Given the description of an element on the screen output the (x, y) to click on. 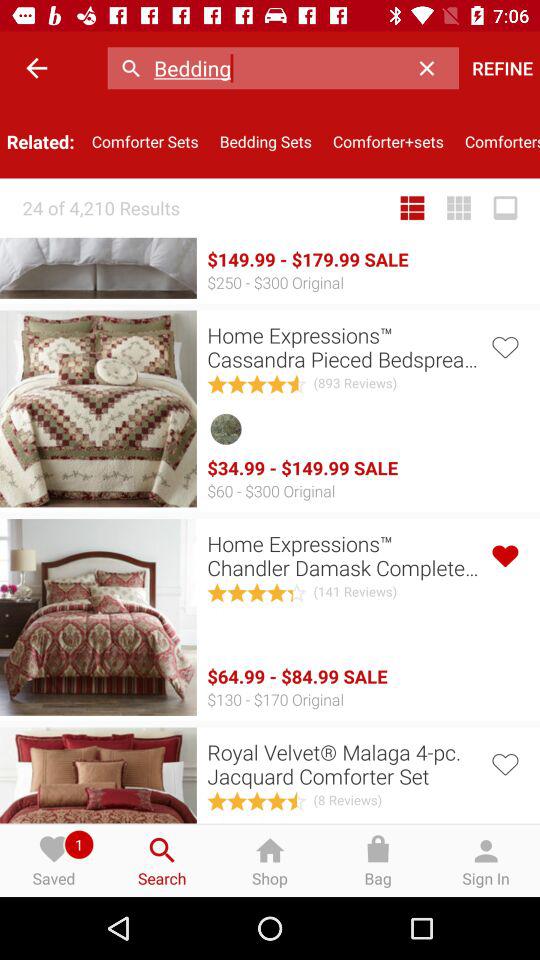
select item above related: item (36, 68)
